Given the description of an element on the screen output the (x, y) to click on. 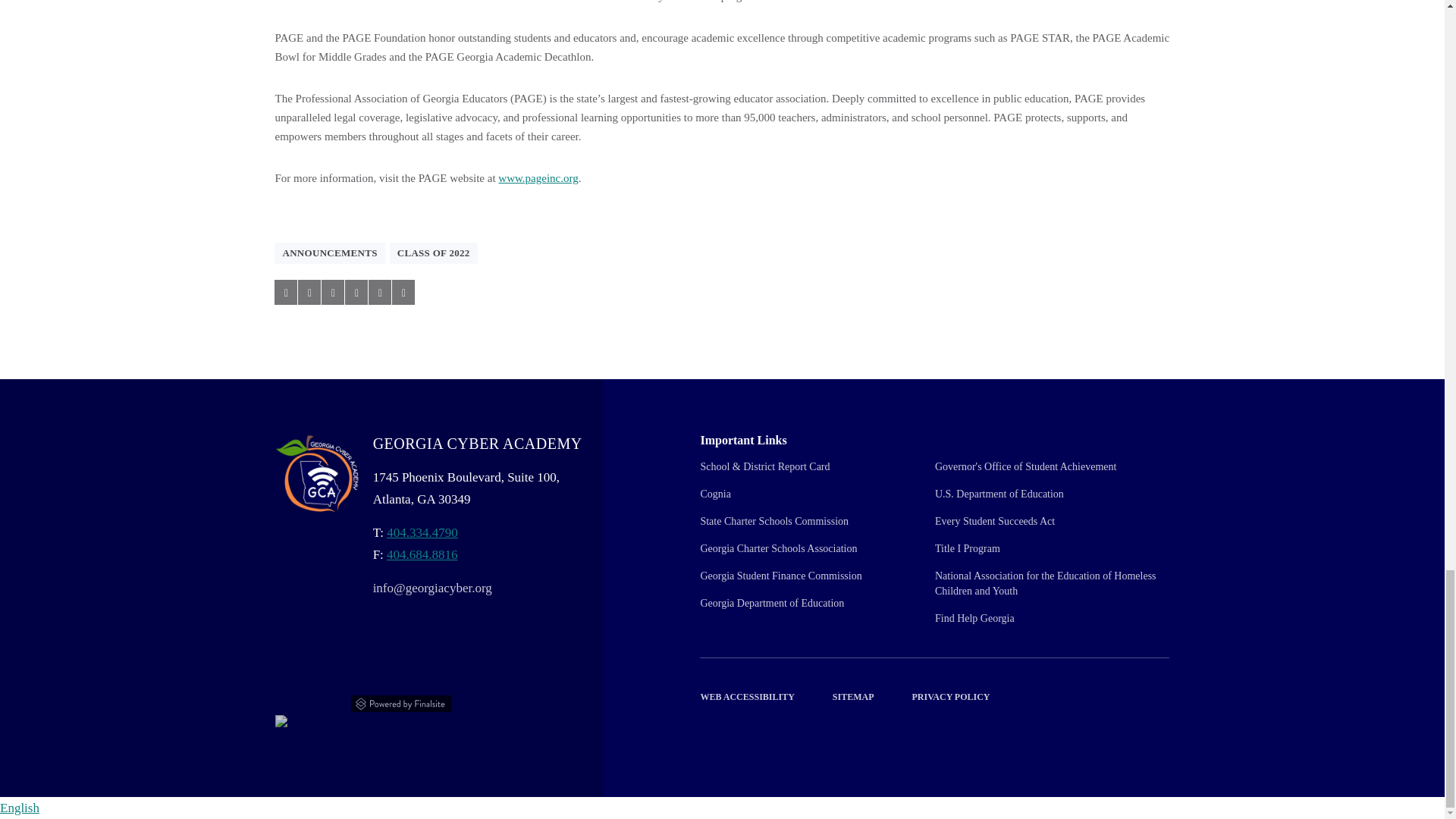
Share to Twitter (309, 292)
Share to LinkedIn (332, 292)
Powered by Finalsite opens in a new window (401, 701)
Share to Pinterest (356, 292)
Share to Email (379, 292)
Share to Facebook (286, 292)
Print this page (402, 292)
